Given the description of an element on the screen output the (x, y) to click on. 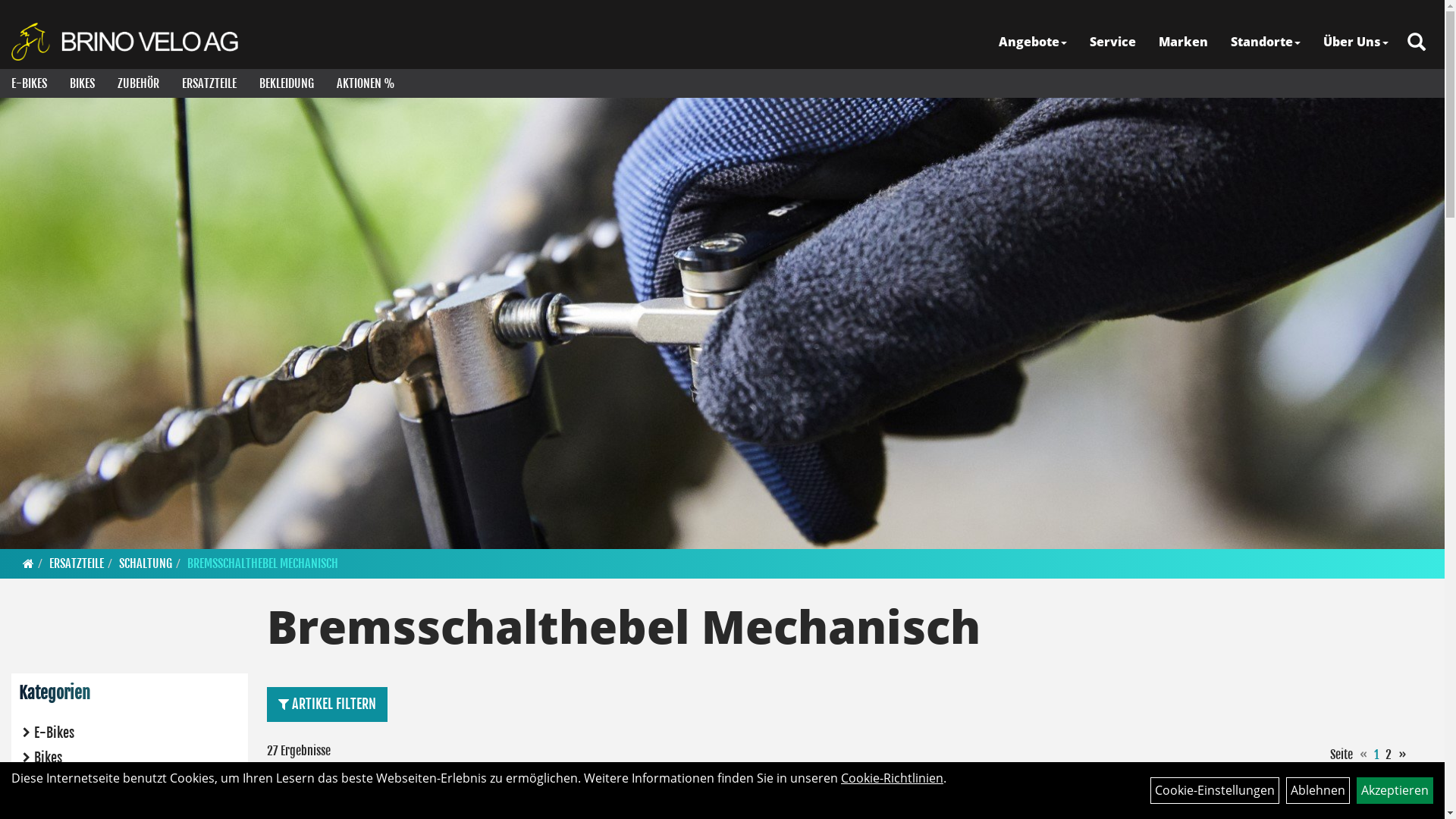
ERSATZTEILE Element type: text (76, 563)
BEKLEIDUNG Element type: text (286, 83)
Bikes Element type: text (129, 757)
Brino Velo AG Element type: hover (126, 41)
Akzeptieren Element type: text (1394, 790)
BREMSSCHALTHEBEL MECHANISCH Element type: text (262, 563)
Ablehnen Element type: text (1317, 790)
E-Bikes Element type: text (129, 732)
Service Element type: text (1112, 41)
Shimano Element type: hover (597, 799)
SCHALTUNG Element type: text (145, 563)
Marken Element type: text (1183, 41)
Standorte Element type: text (1265, 41)
Shimano Element type: hover (886, 799)
Shimano Element type: hover (1174, 799)
AKTIONEN % Element type: text (365, 83)
2 Element type: text (1388, 754)
Cookie-Richtlinien Element type: text (891, 777)
Shimano Element type: hover (308, 799)
ERSATZTEILE Element type: text (208, 83)
Cookie-Einstellungen Element type: text (1214, 790)
BIKES Element type: text (82, 83)
E-BIKES Element type: text (29, 83)
ARTIKEL FILTERN Element type: text (326, 704)
Angebote Element type: text (1032, 41)
